Given the description of an element on the screen output the (x, y) to click on. 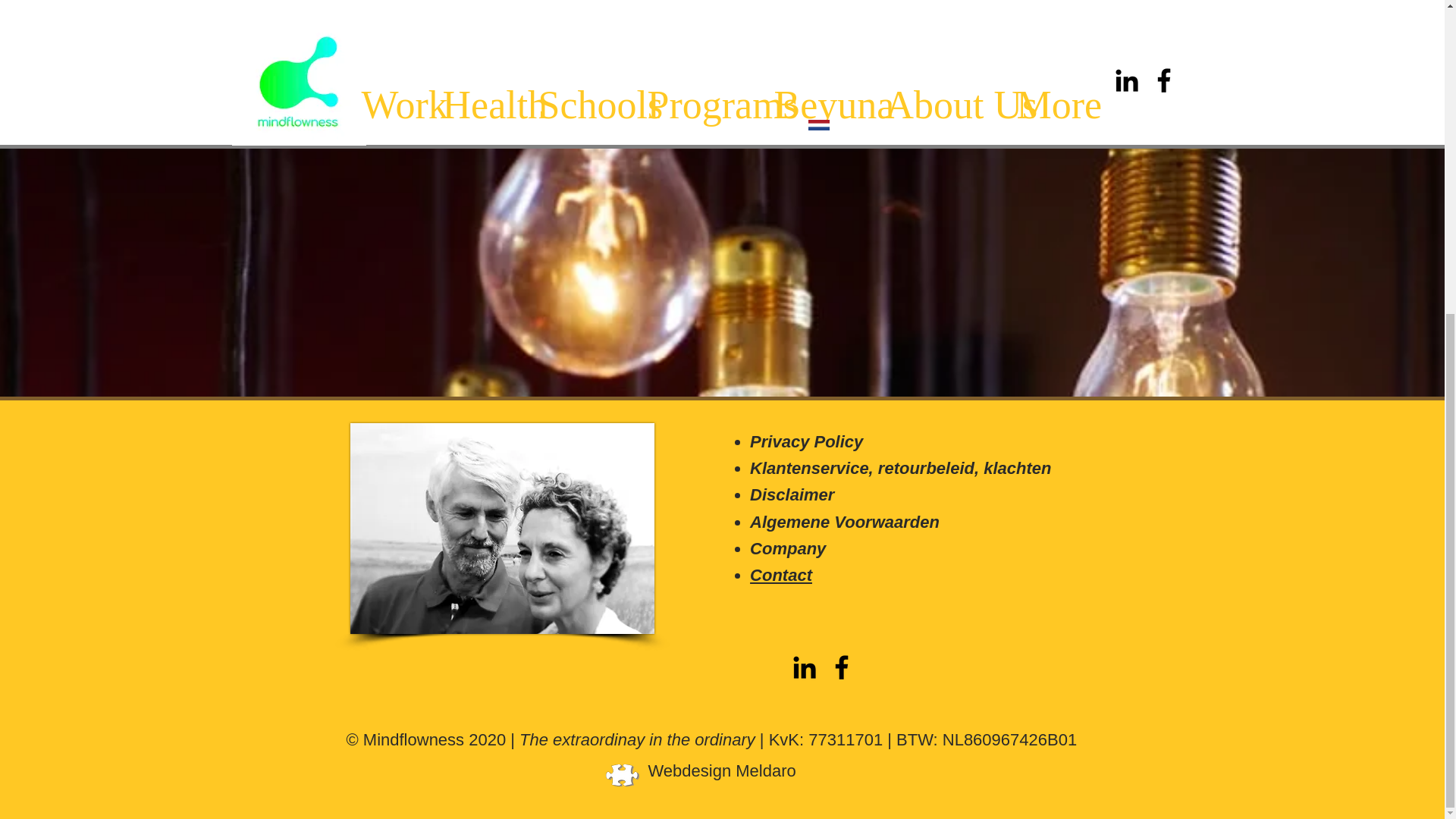
Company (787, 547)
Disclaimer (791, 494)
Privacy Policy (806, 441)
Algemene Voorwaarden (844, 521)
Klantenservice, retourbeleid, klachten (900, 467)
Contact (780, 574)
